Given the description of an element on the screen output the (x, y) to click on. 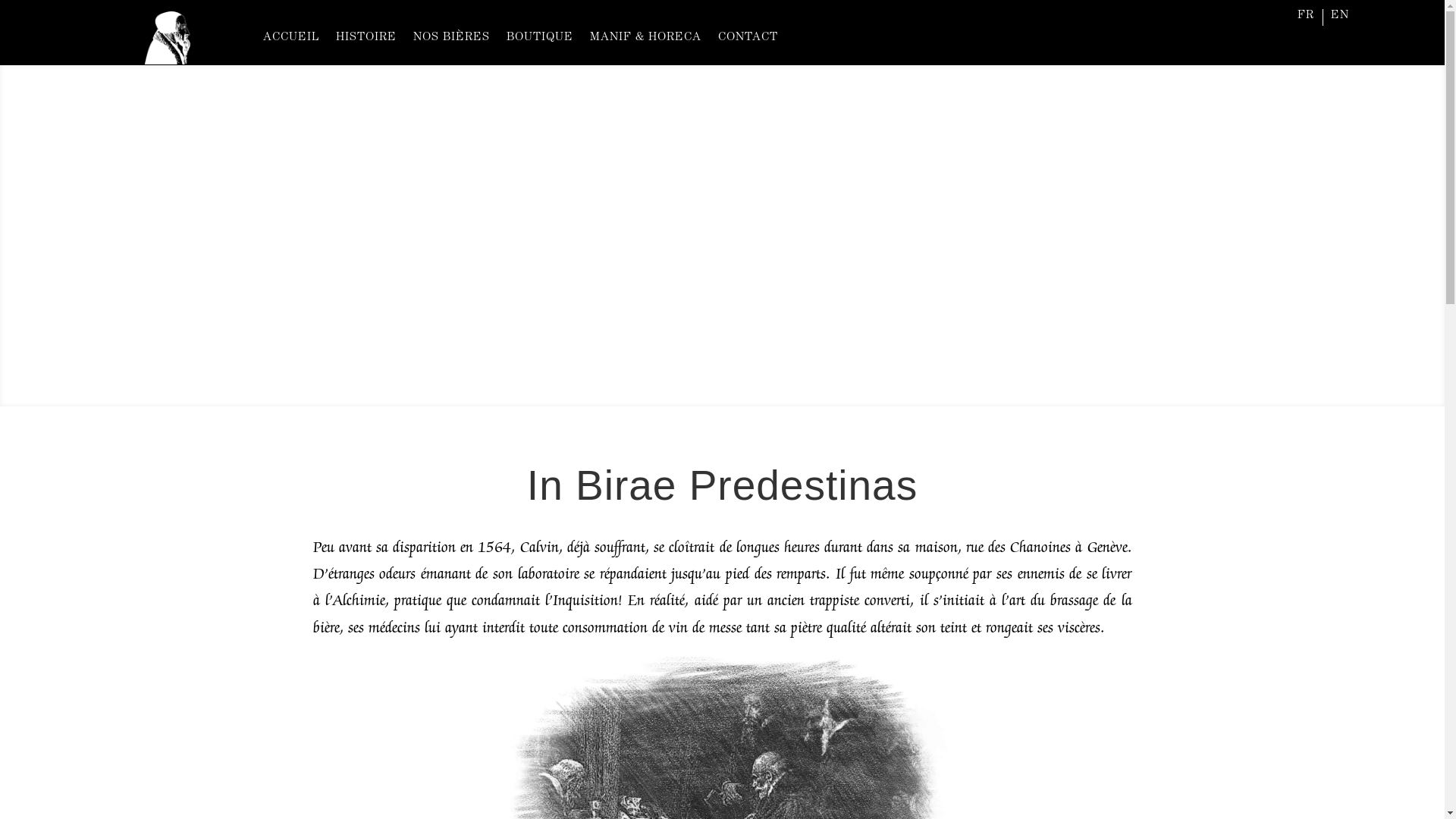
CONTACT Element type: text (748, 37)
MANIF & HORECA Element type: text (645, 37)
ACCUEIL Element type: text (291, 37)
EN Element type: text (1339, 18)
FR Element type: text (1305, 18)
HISTOIRE Element type: text (365, 37)
BOUTIQUE Element type: text (539, 37)
